Given the description of an element on the screen output the (x, y) to click on. 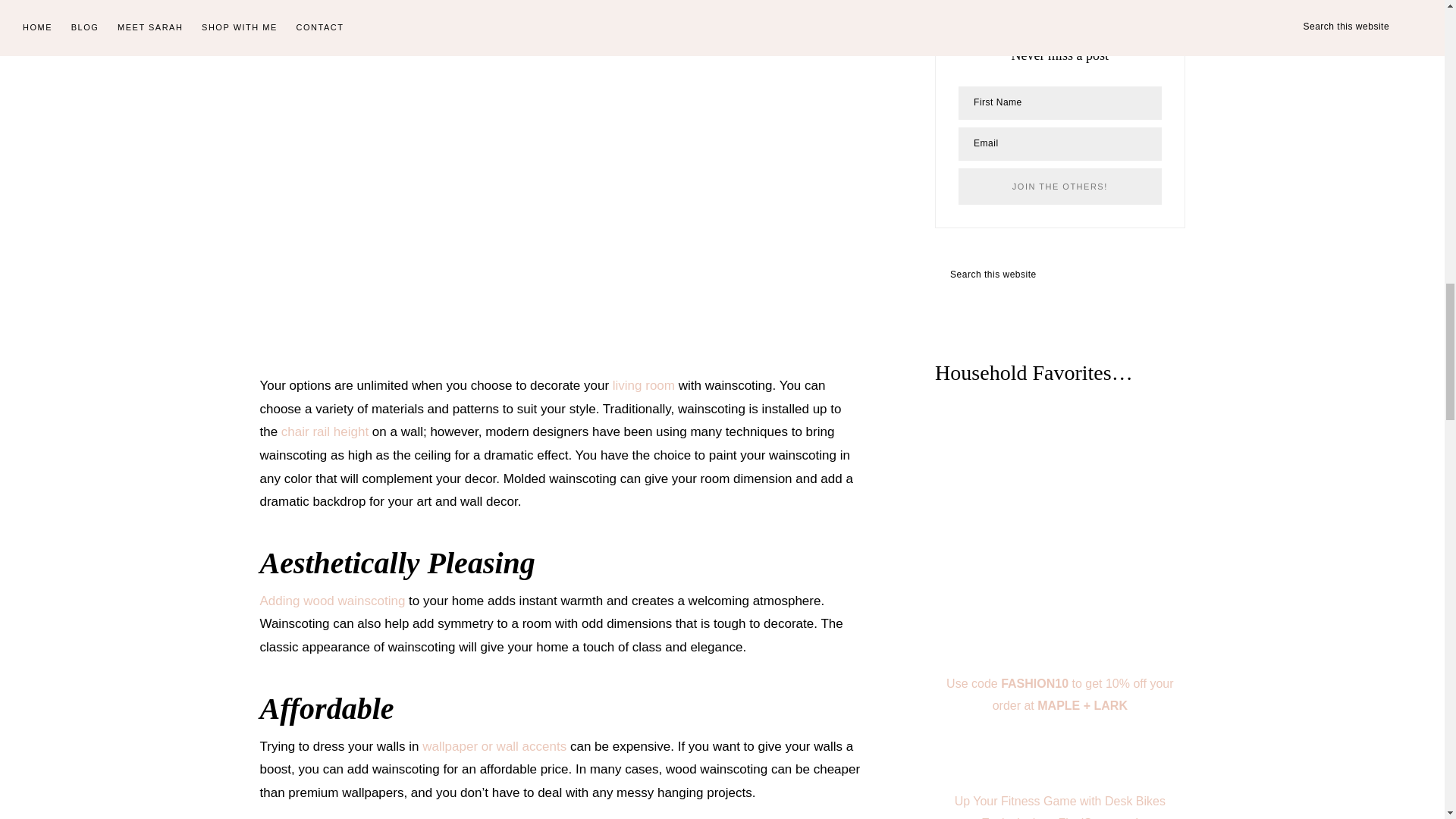
Join the Others! (1059, 186)
